Given the description of an element on the screen output the (x, y) to click on. 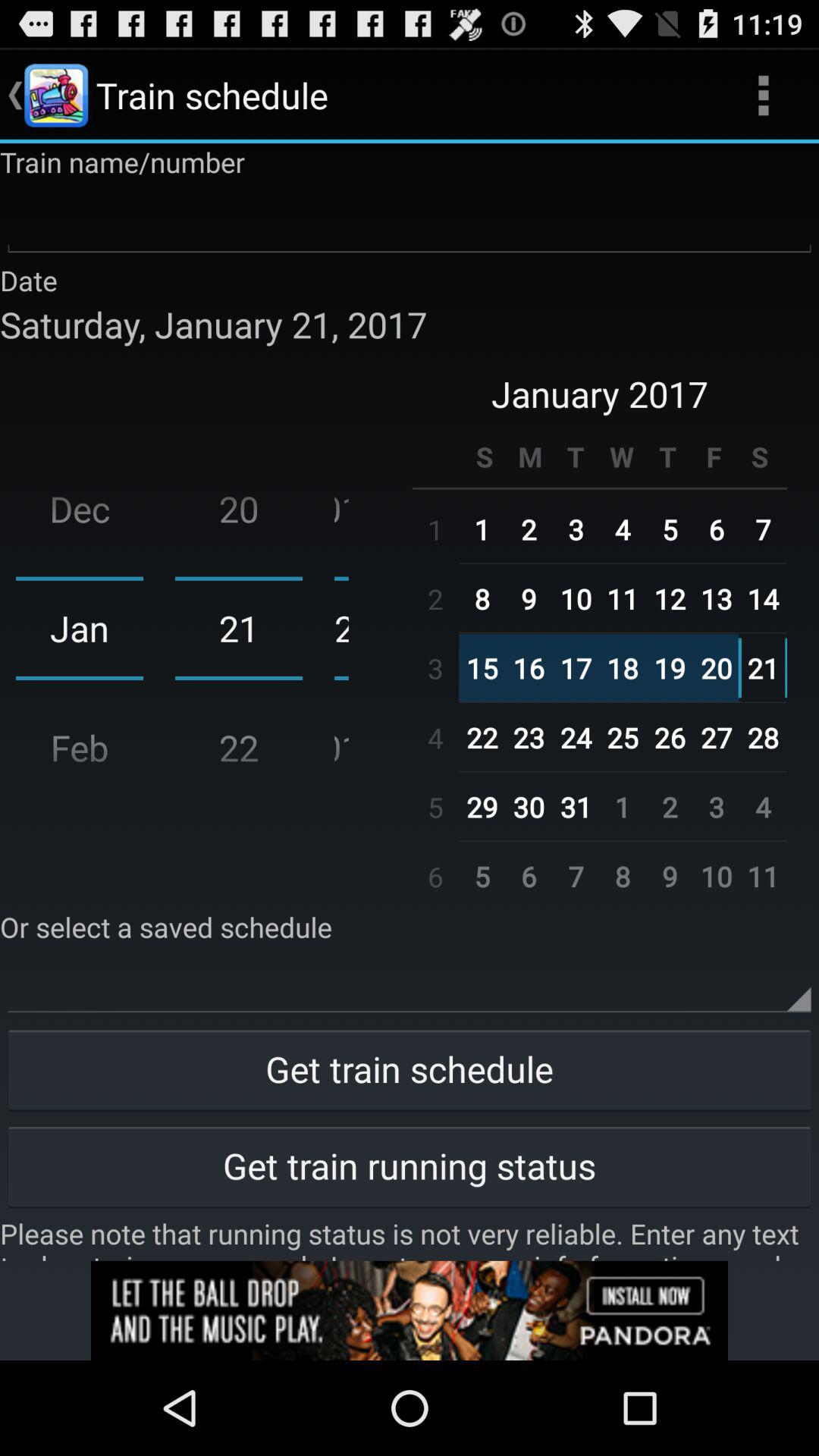
enter train number/information (409, 221)
